Given the description of an element on the screen output the (x, y) to click on. 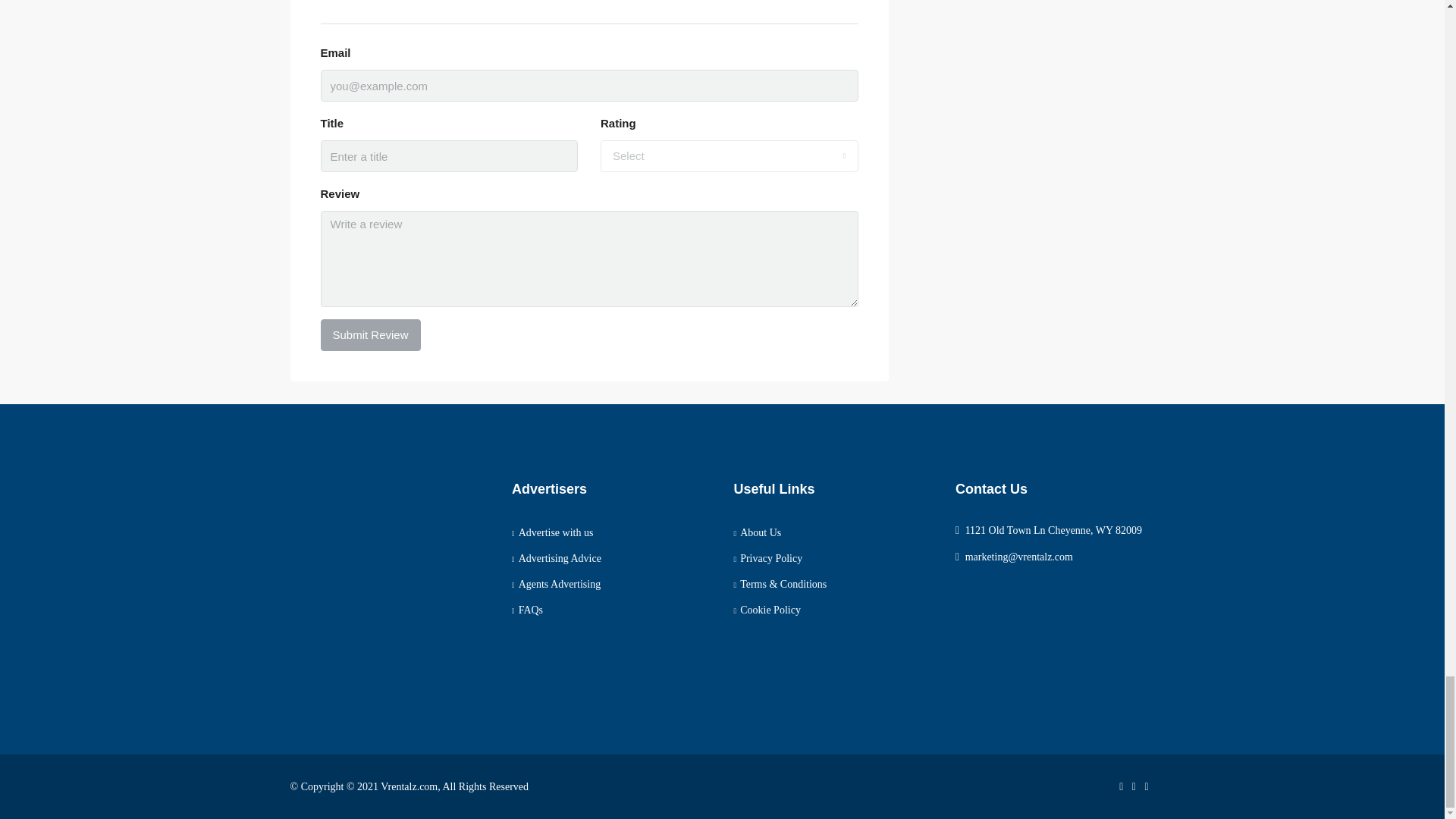
Select (729, 155)
